Given the description of an element on the screen output the (x, y) to click on. 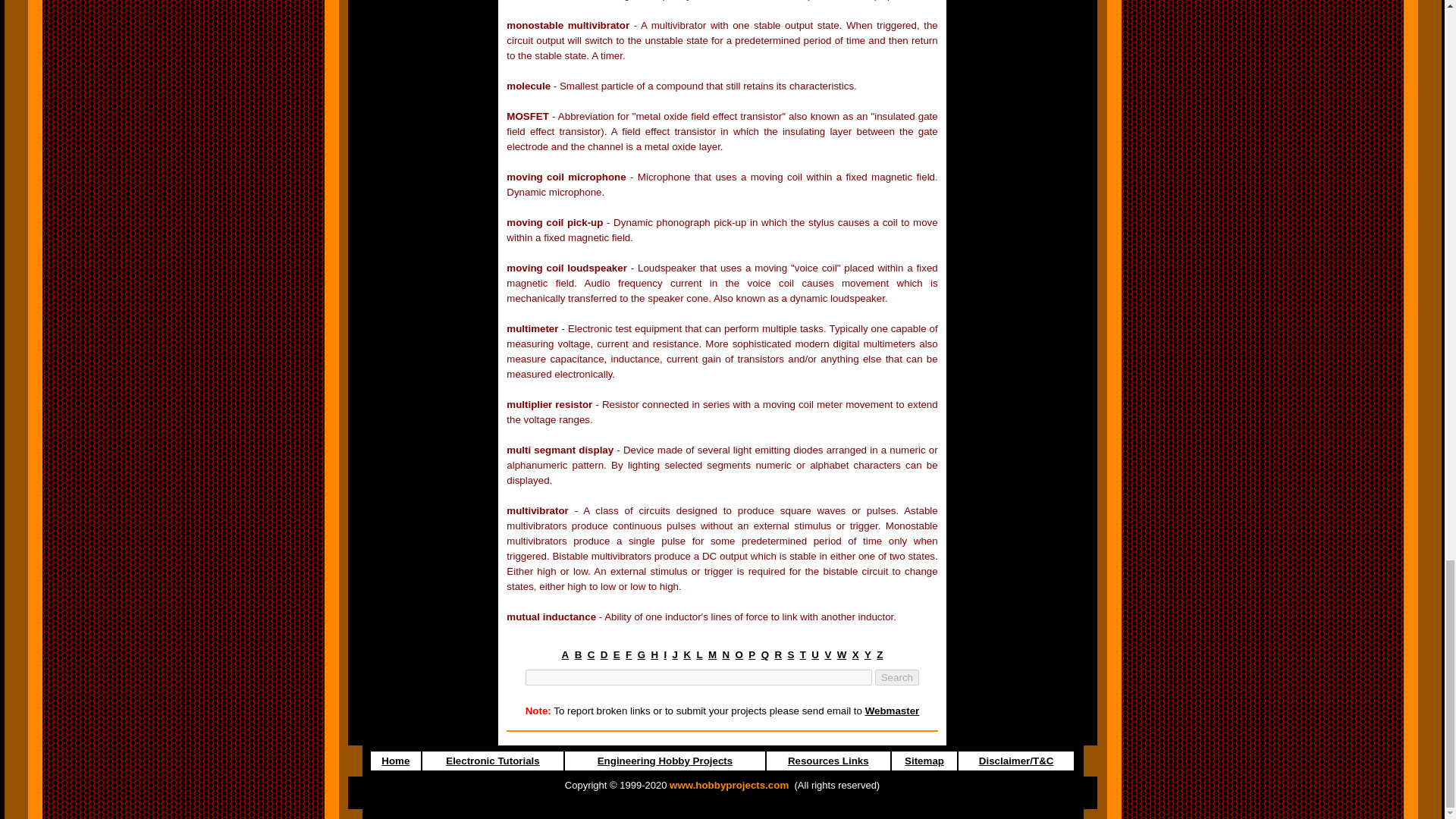
Search (896, 677)
